Given the description of an element on the screen output the (x, y) to click on. 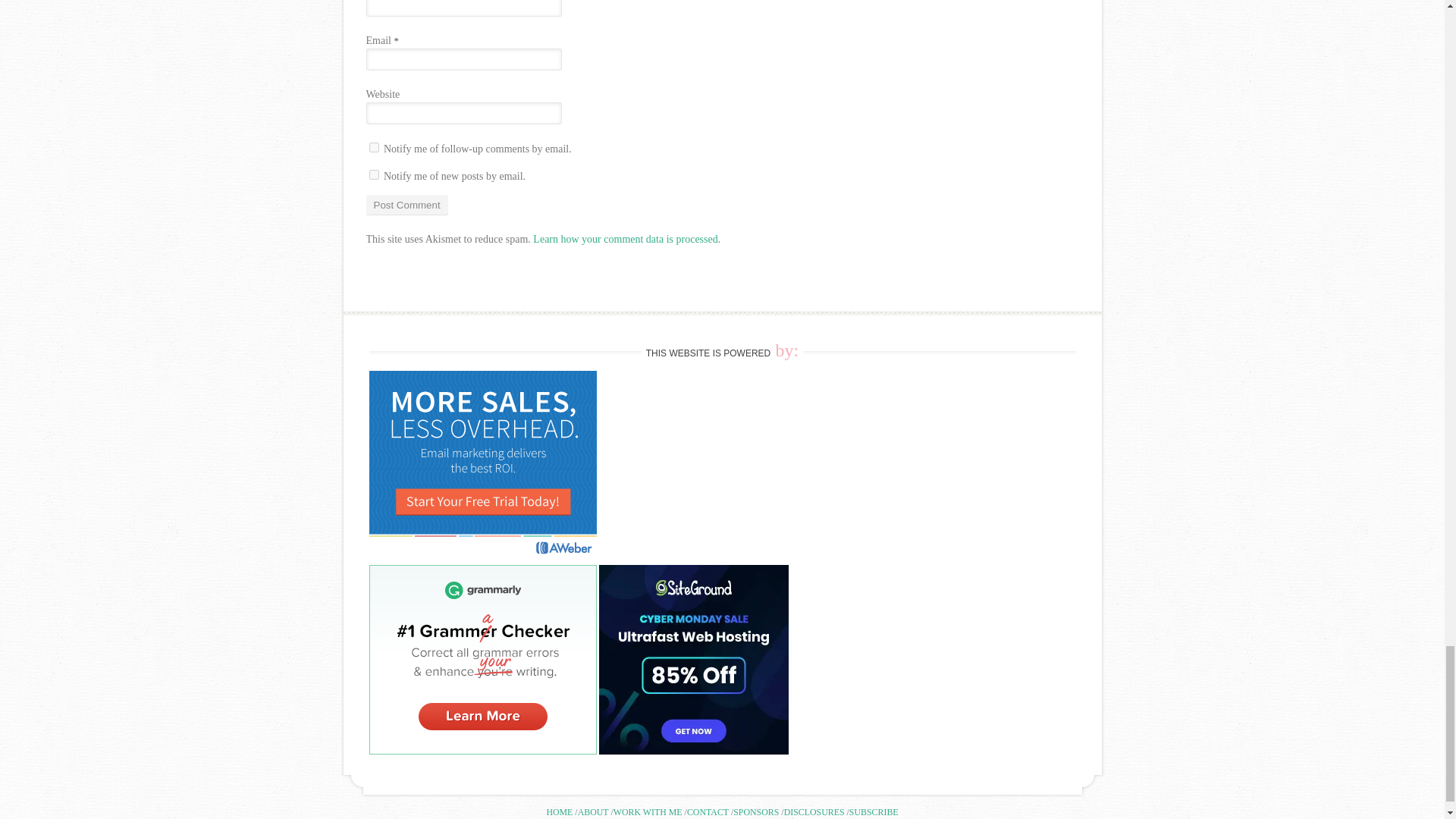
subscribe (373, 174)
subscribe (373, 147)
Post Comment (405, 204)
